Given the description of an element on the screen output the (x, y) to click on. 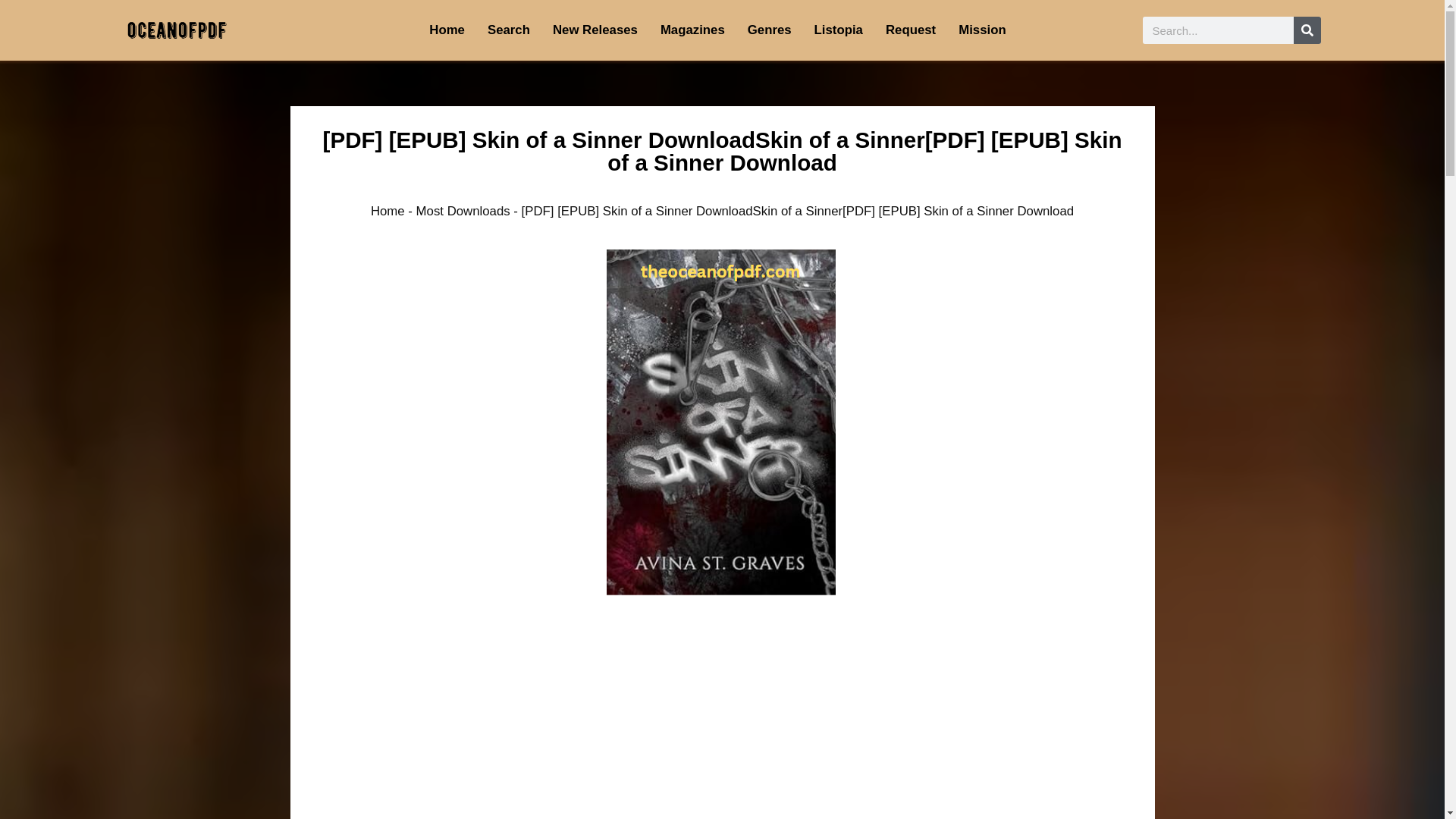
Home (387, 210)
Home (446, 30)
Advertisement (722, 746)
Mission (982, 30)
Most Downloads (463, 210)
Magazines (693, 30)
Search (508, 30)
New Releases (595, 30)
Request (910, 30)
